Given the description of an element on the screen output the (x, y) to click on. 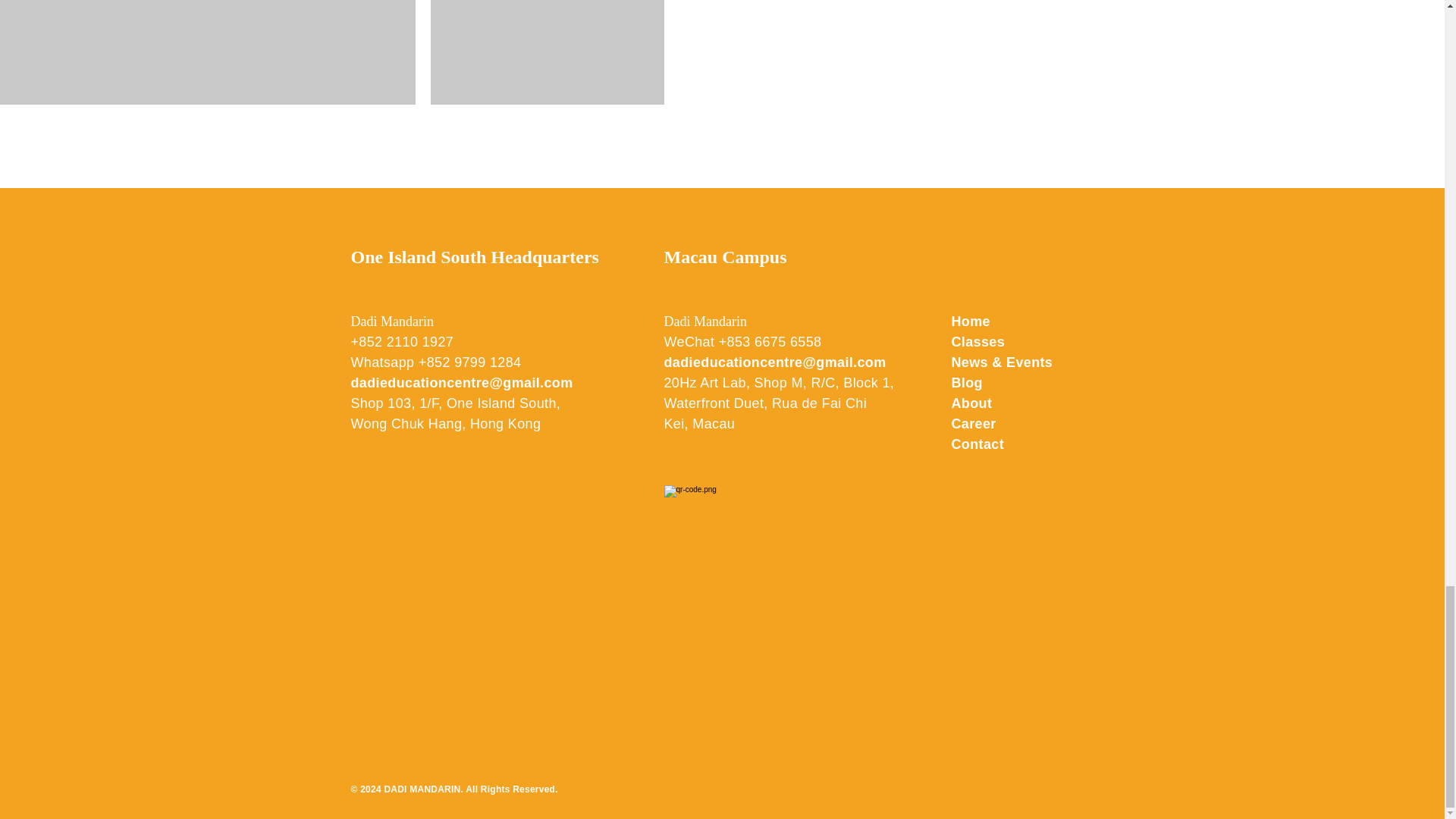
Contact (977, 444)
Classes (977, 341)
Blog (965, 382)
Home (970, 321)
